Given the description of an element on the screen output the (x, y) to click on. 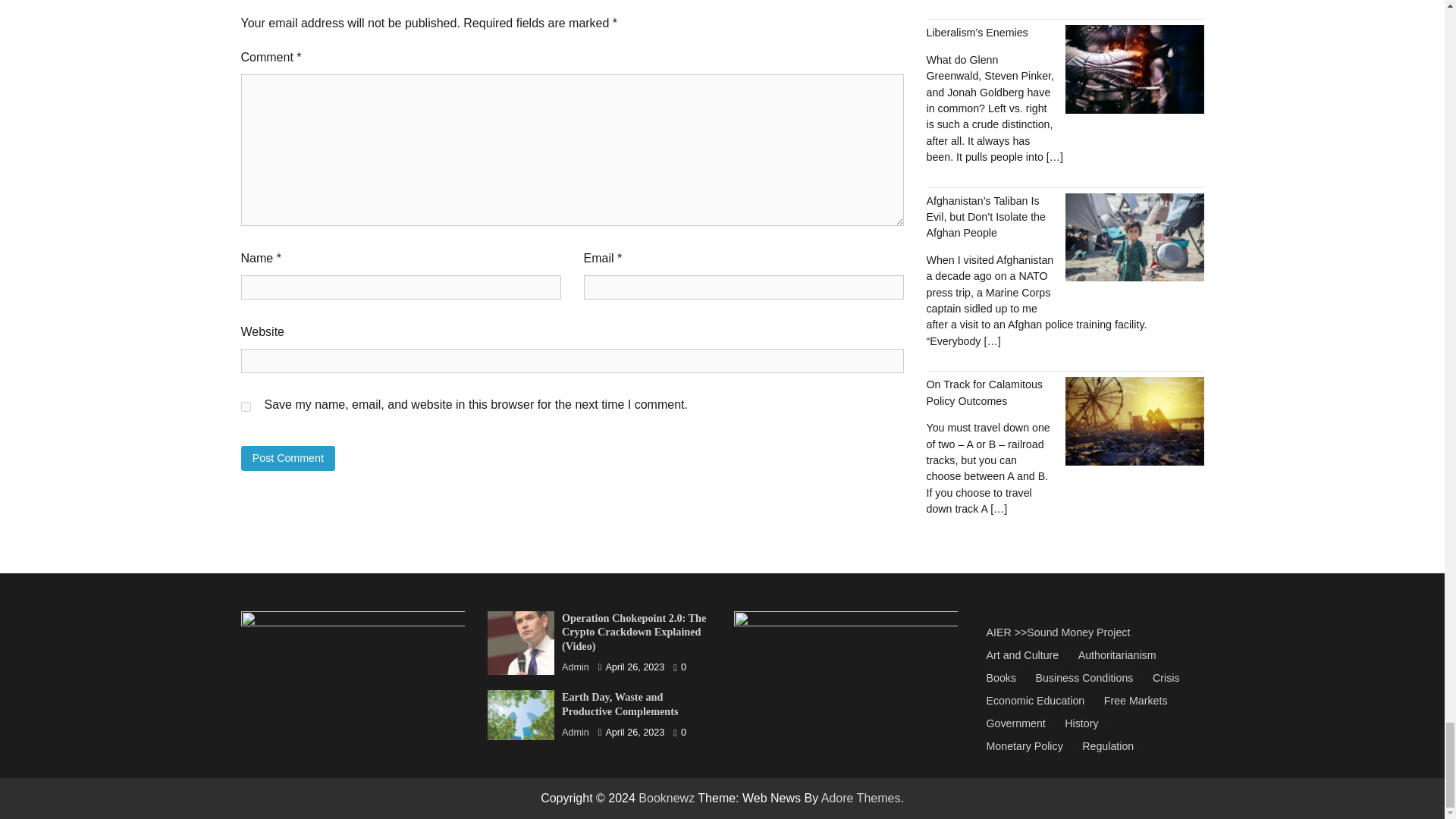
Post Comment (288, 457)
yes (245, 406)
